Given the description of an element on the screen output the (x, y) to click on. 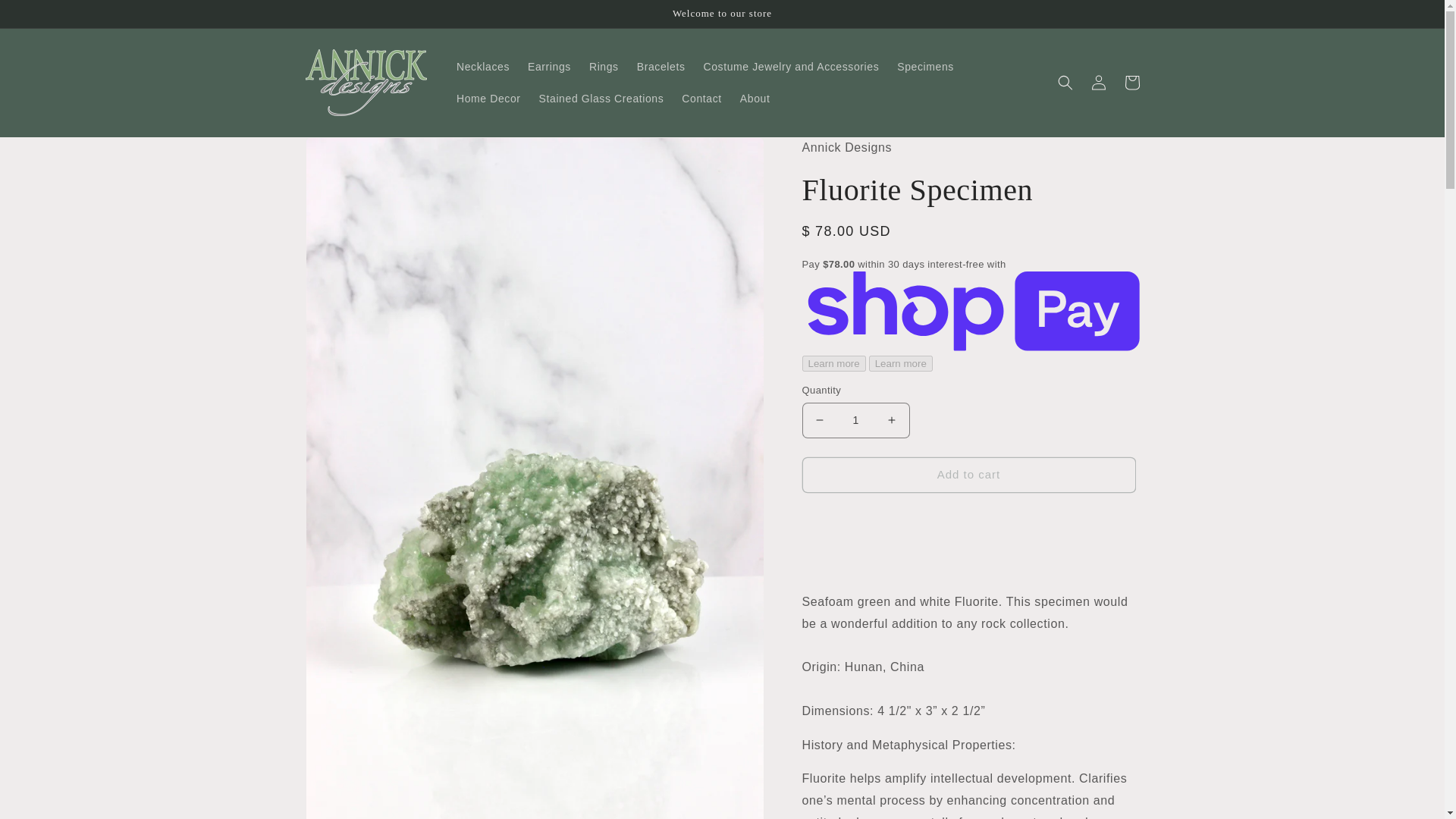
Skip to product information (350, 153)
Skip to content (45, 17)
Bracelets (660, 66)
Rings (603, 66)
Specimens (925, 66)
Log in (1098, 82)
1 (856, 420)
Costume Jewelry and Accessories (791, 66)
Cart (1131, 82)
Necklaces (482, 66)
